Given the description of an element on the screen output the (x, y) to click on. 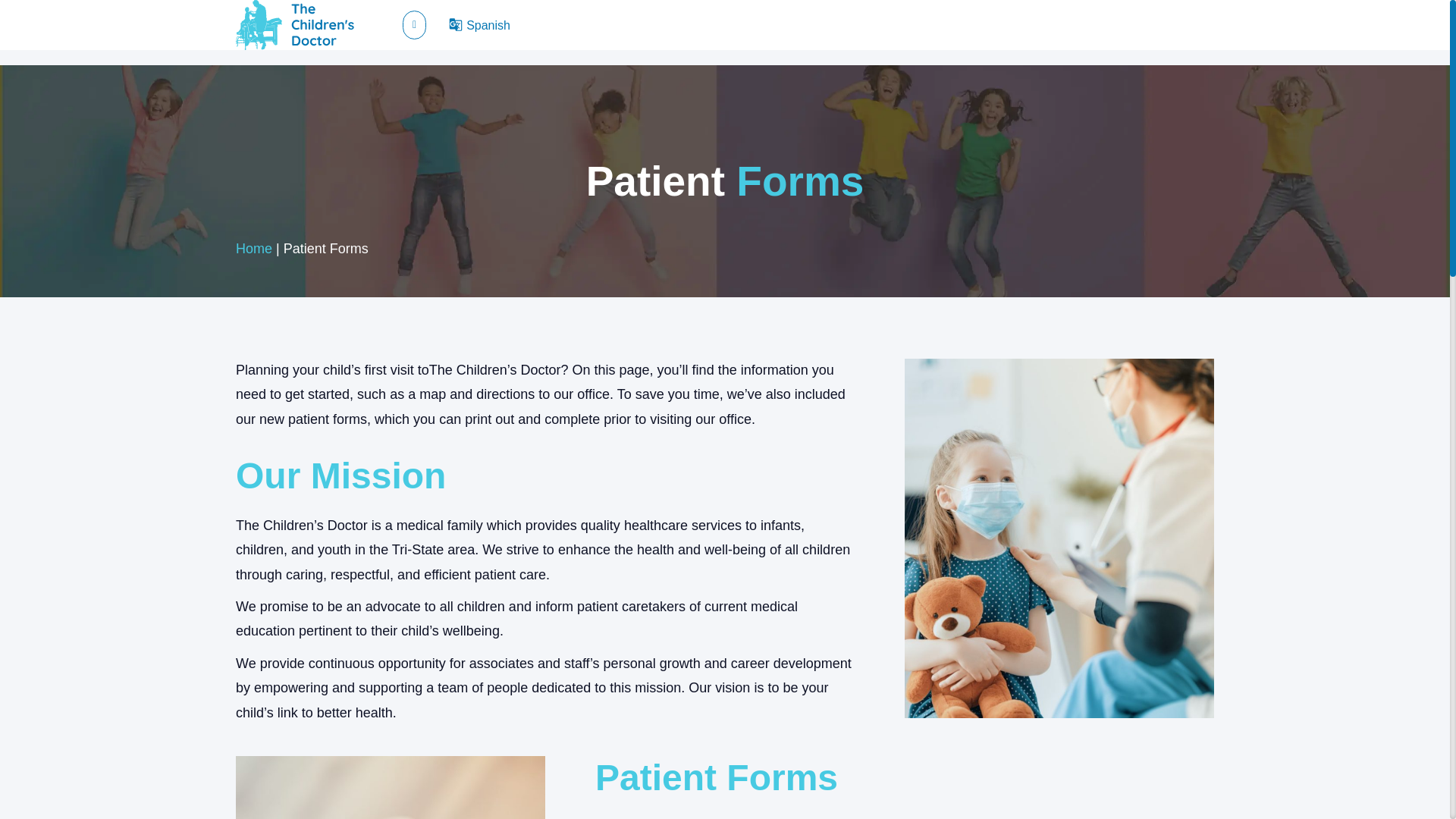
Form (389, 787)
Home (253, 248)
Spanish (488, 24)
